Given the description of an element on the screen output the (x, y) to click on. 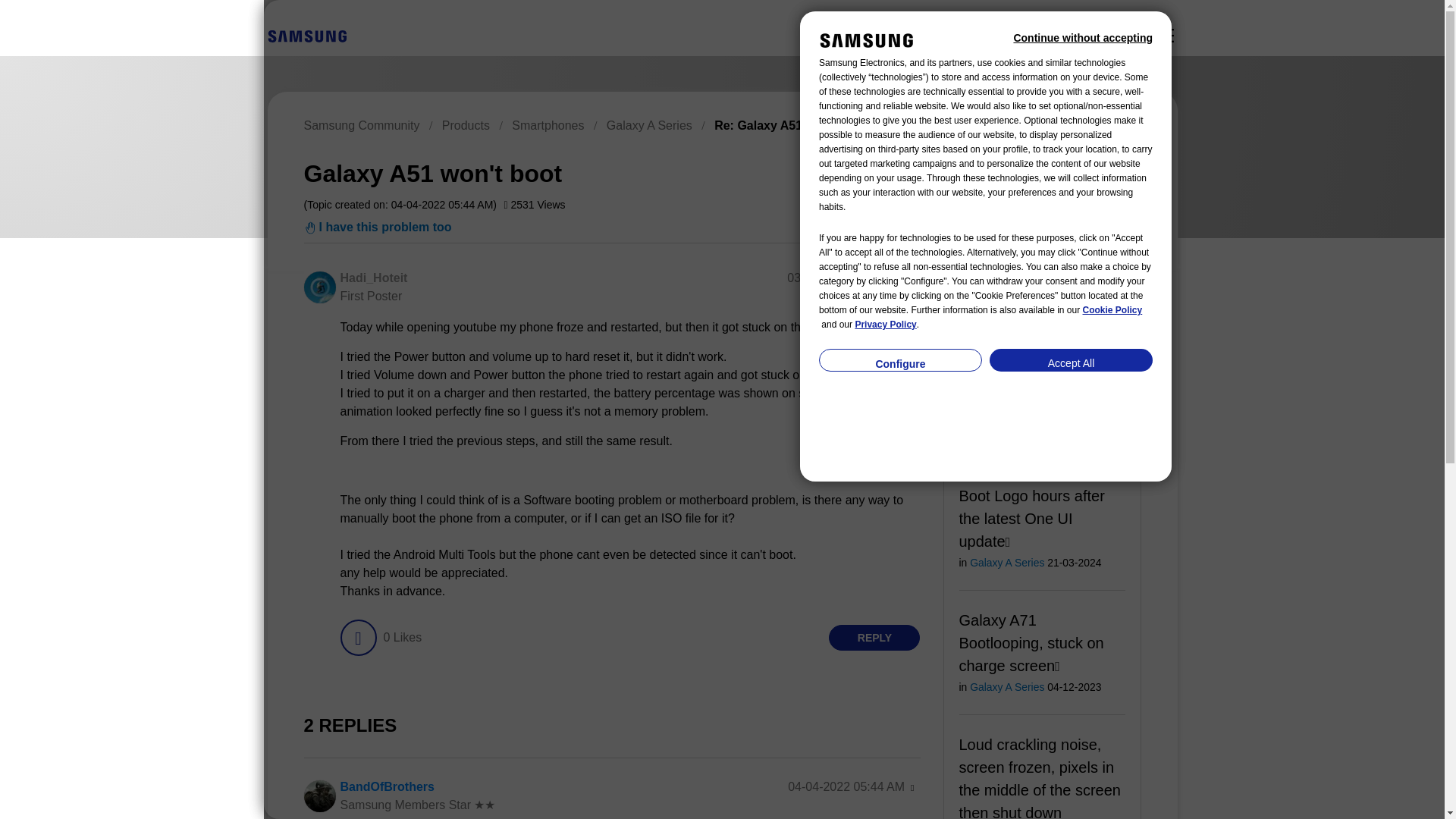
Galaxy A Series (650, 124)
Samsung Community (360, 124)
The total number of likes this post has received. (401, 637)
Products (465, 124)
Show option menu (1072, 171)
Community (1164, 35)
Click here to give likes to this post. (357, 637)
Show option menu (912, 279)
English (306, 34)
BandOfBrothers (386, 786)
Smartphones (547, 124)
Topic Options (1072, 171)
REPLY (874, 637)
English (306, 36)
